Given the description of an element on the screen output the (x, y) to click on. 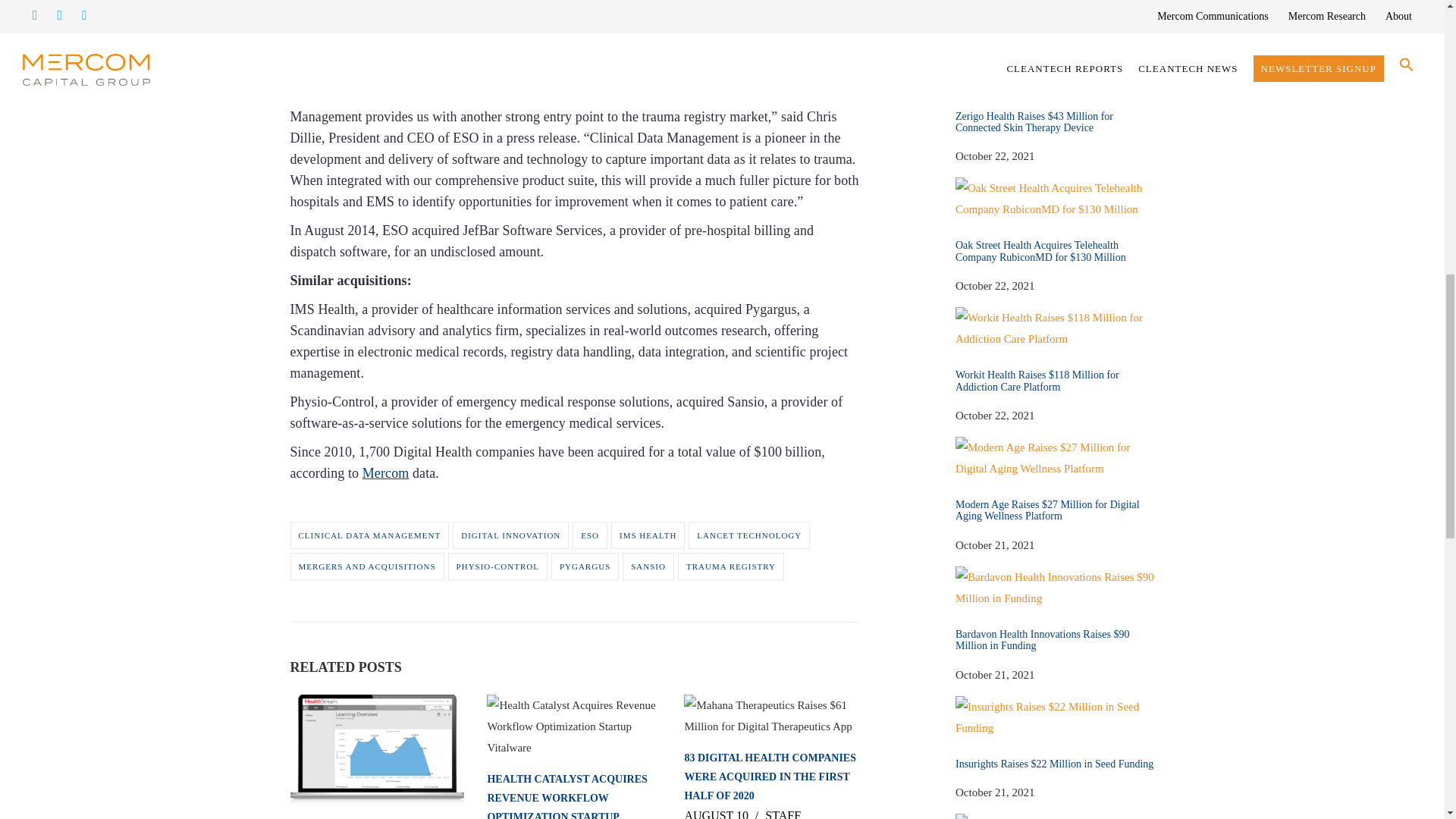
DIGITAL INNOVATION (510, 534)
MERGERS AND ACQUISITIONS (366, 565)
IMS HEALTH (647, 534)
ESO (589, 534)
Mercom (385, 473)
TRAUMA REGISTRY (731, 565)
Posts by Staff (782, 814)
SANSIO (648, 565)
CLINICAL DATA MANAGEMENT (368, 534)
PYGARGUS (584, 565)
